Given the description of an element on the screen output the (x, y) to click on. 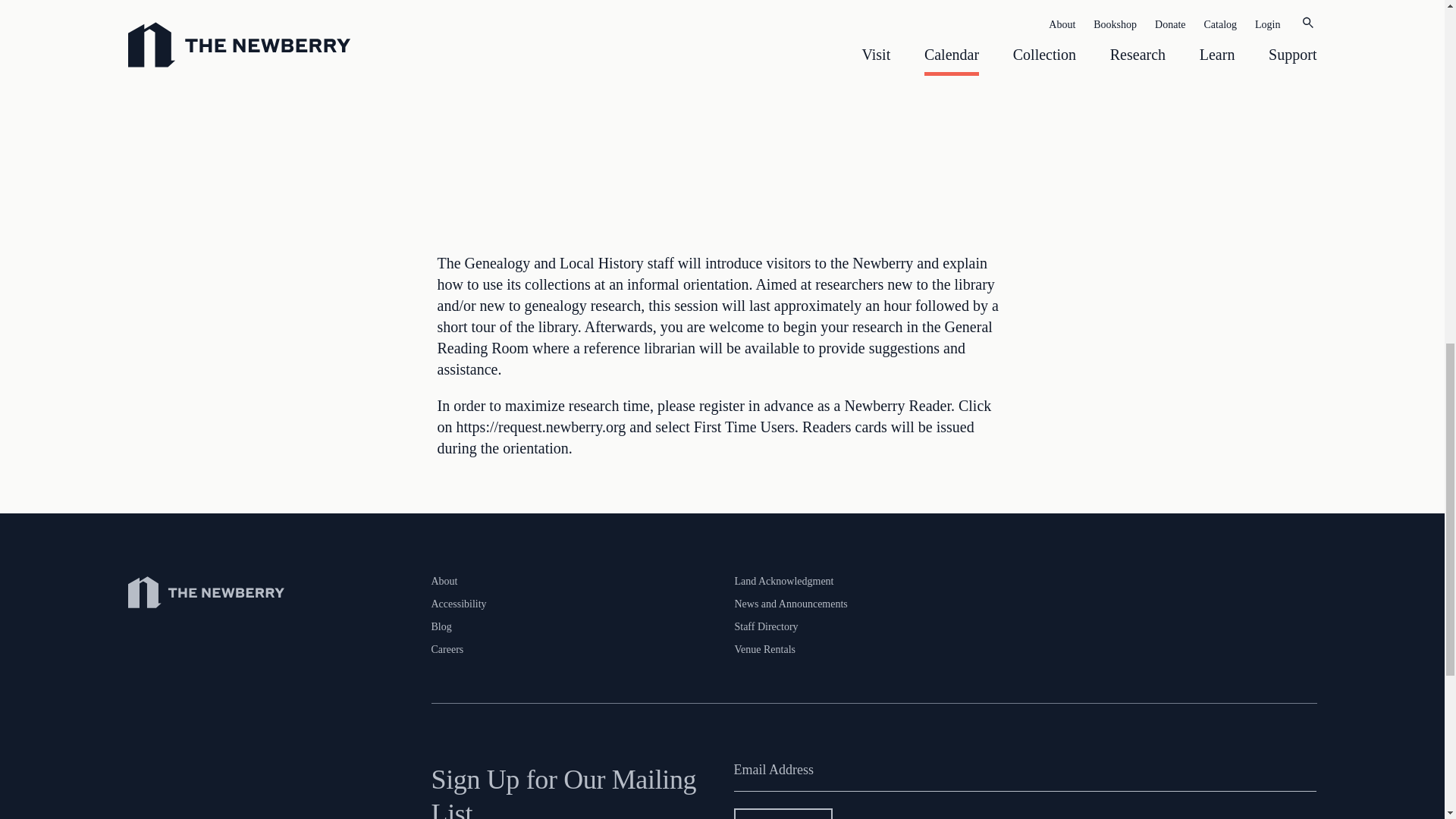
NULL (721, 95)
